Given the description of an element on the screen output the (x, y) to click on. 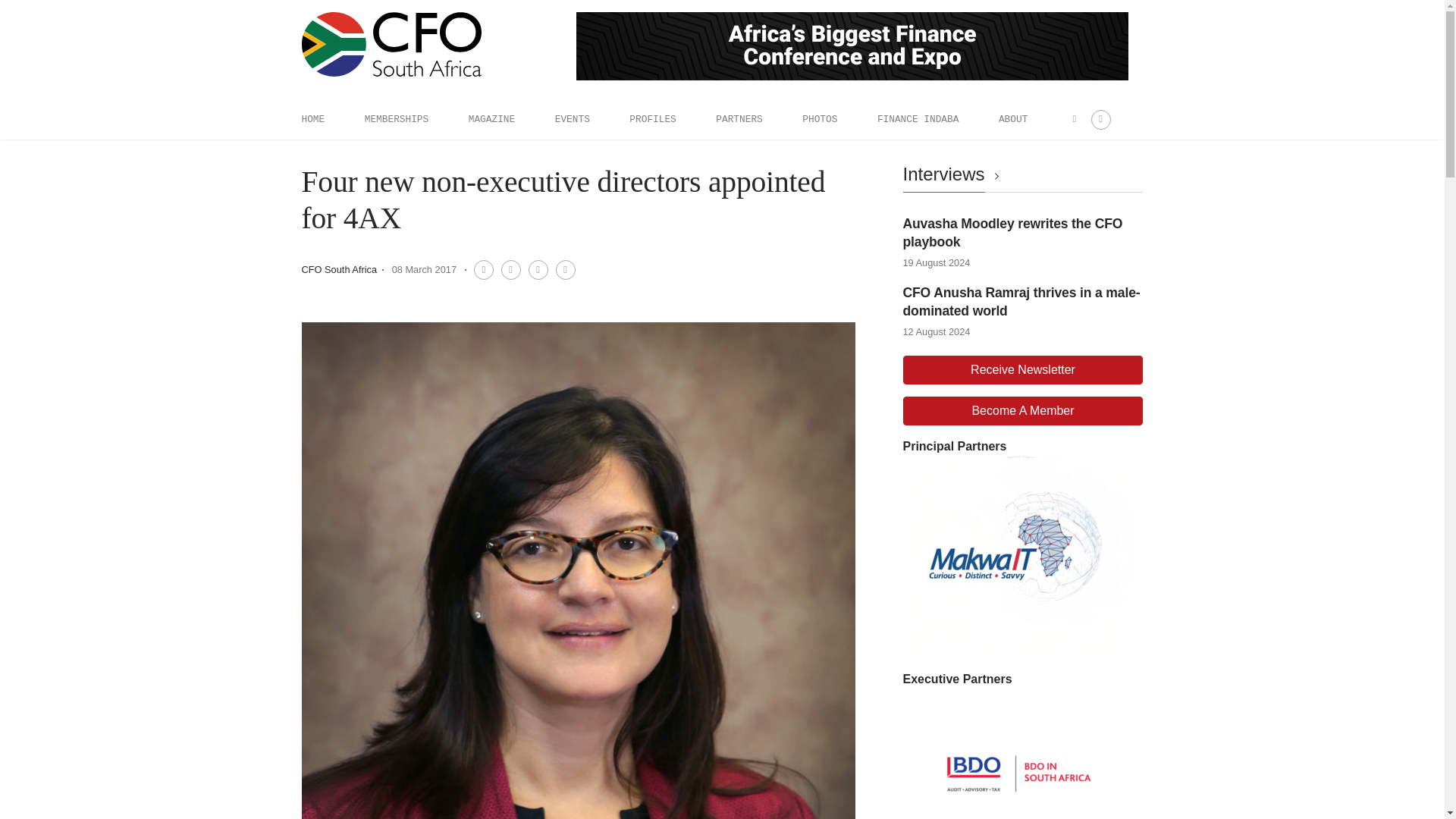
HOME (312, 119)
EVENTS (571, 119)
Receive Newsletter (1022, 369)
PHOTOS (819, 119)
ABOUT (1012, 119)
PROFILES (651, 119)
PARTNERS (738, 119)
MAGAZINE (491, 119)
MEMBERSHIPS (396, 119)
FINANCE INDABA (918, 119)
